Given the description of an element on the screen output the (x, y) to click on. 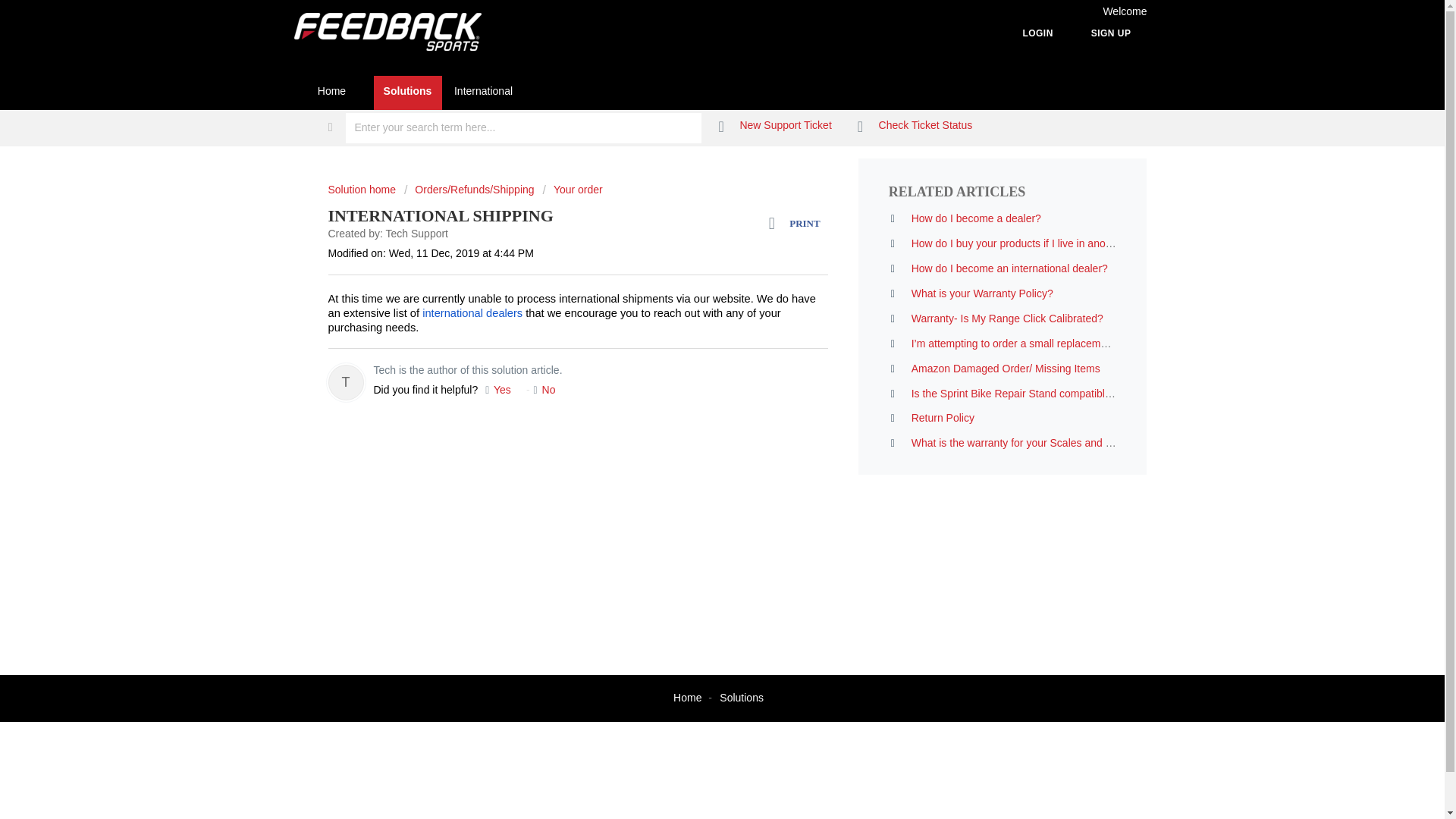
Your order (571, 189)
Home (686, 697)
International (482, 92)
PRINT (798, 223)
Home (331, 92)
Check ticket status (914, 125)
Is the Sprint Bike Repair Stand compatible with my bike? (1044, 393)
What is your Warranty Policy? (981, 293)
international dealers (472, 313)
Chat (113, 778)
